Given the description of an element on the screen output the (x, y) to click on. 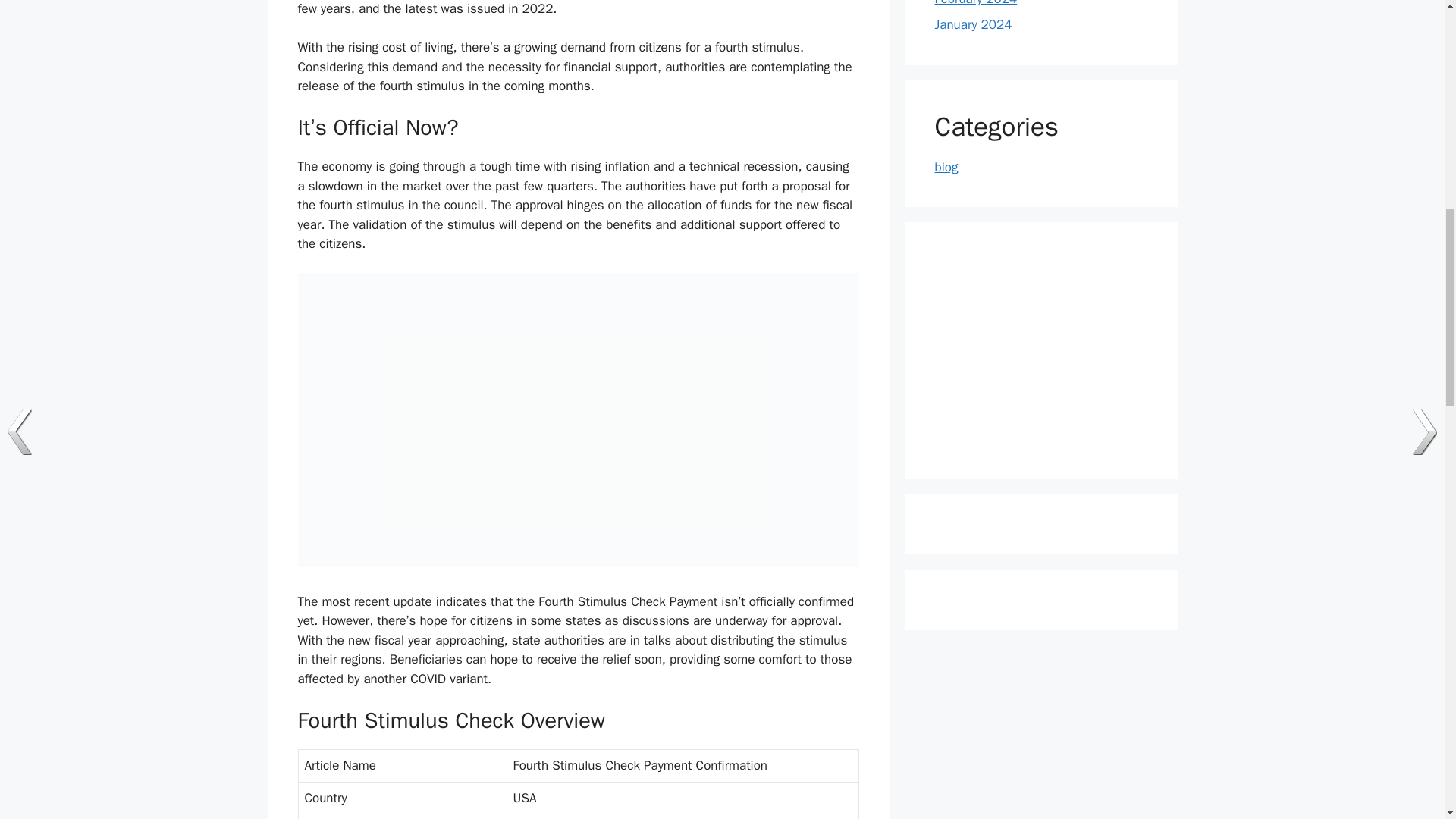
February 2024 (975, 3)
blog (946, 166)
January 2024 (972, 24)
